Given the description of an element on the screen output the (x, y) to click on. 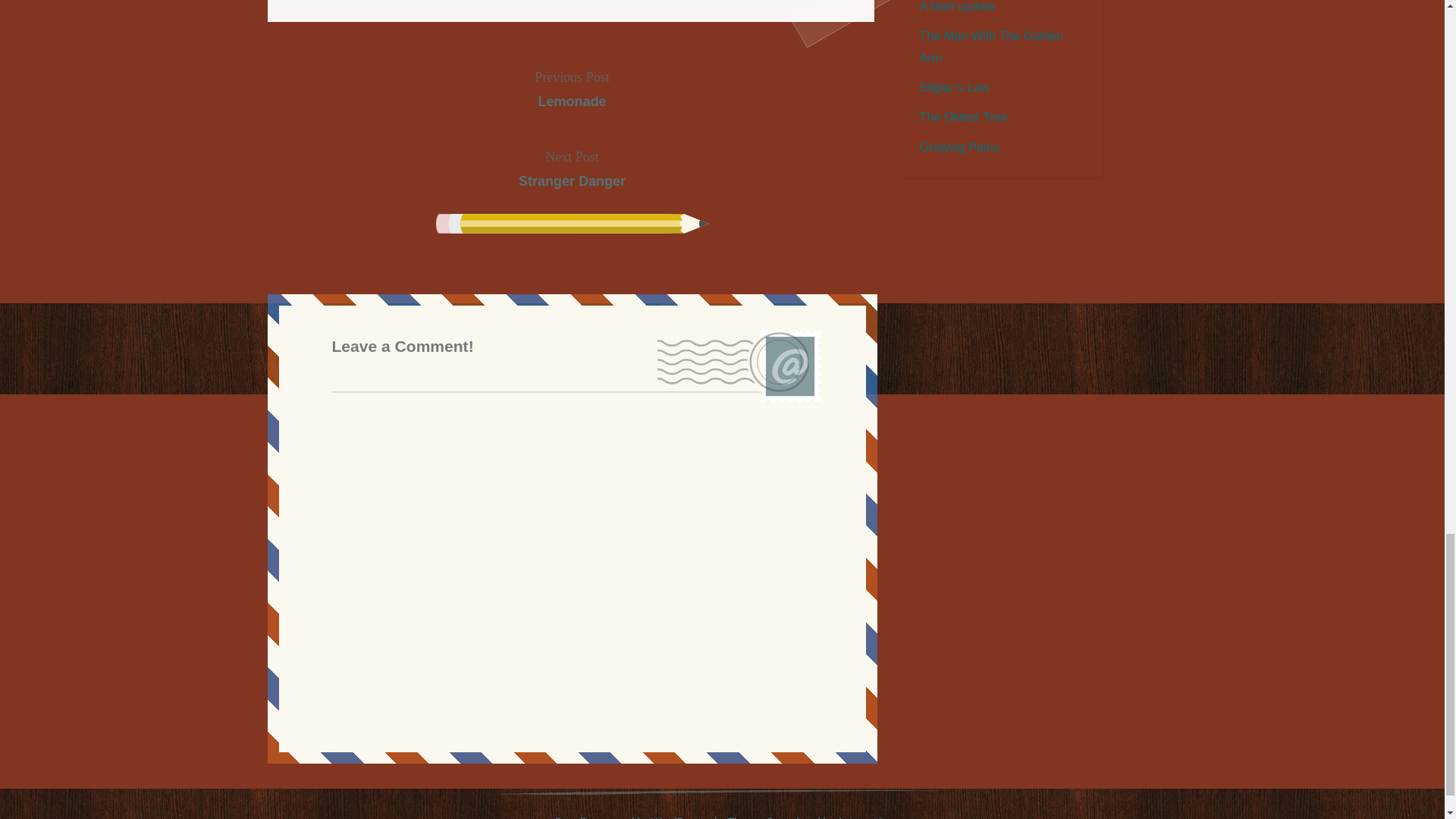
Comment Form (572, 169)
